Given the description of an element on the screen output the (x, y) to click on. 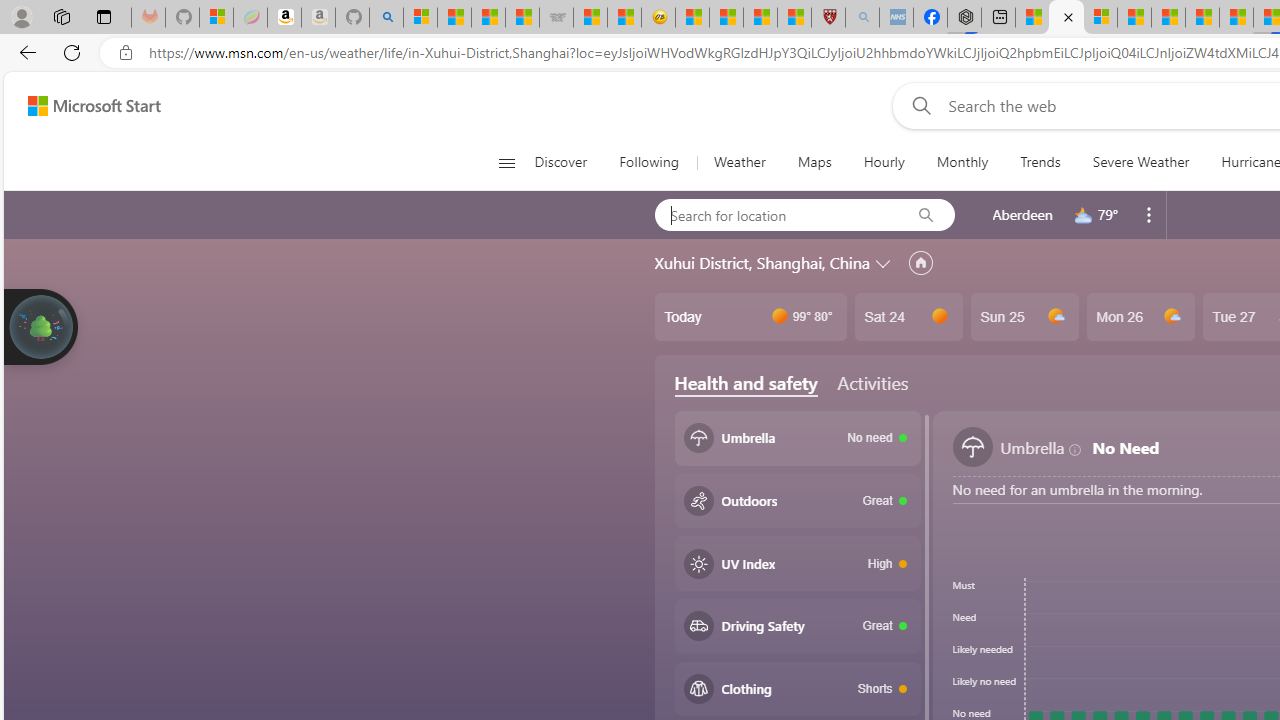
Xuhui District, Shanghai, China (762, 263)
Join us in planting real trees to help our planet! (40, 325)
Sun 25 (1024, 317)
Mon 26 (1140, 317)
